Given the description of an element on the screen output the (x, y) to click on. 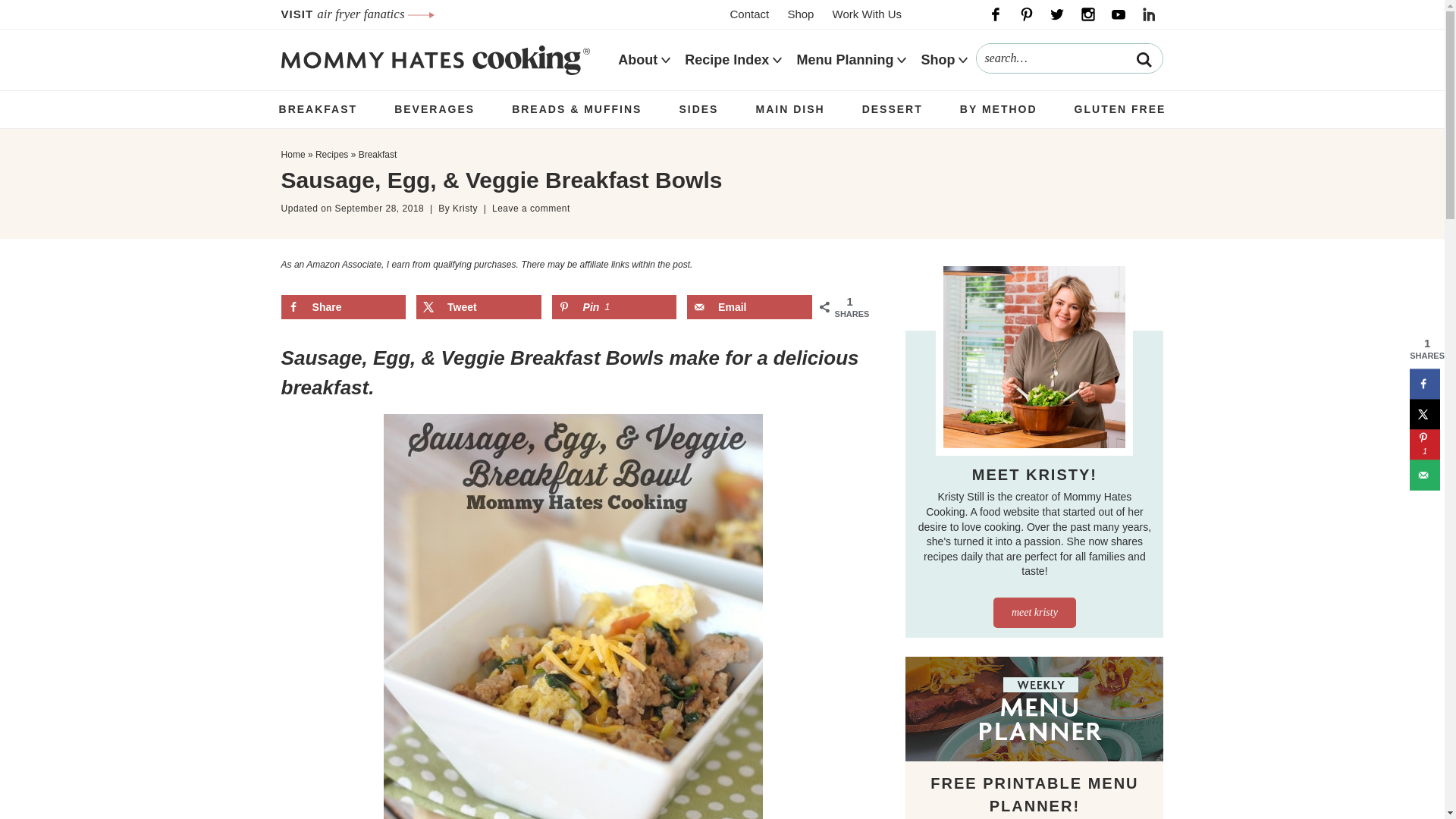
Send over email (749, 306)
Search for (1068, 58)
About (637, 59)
MOMMY HATES COOKING (435, 59)
Send over email (1424, 474)
air fryer fanatics (375, 13)
Work With Us (866, 13)
Share on Facebook (343, 306)
Share on Facebook (1424, 383)
Recipe Index (727, 59)
Contact (749, 13)
Save to Pinterest (614, 306)
Shop (799, 13)
Save to Pinterest (1424, 444)
